Given the description of an element on the screen output the (x, y) to click on. 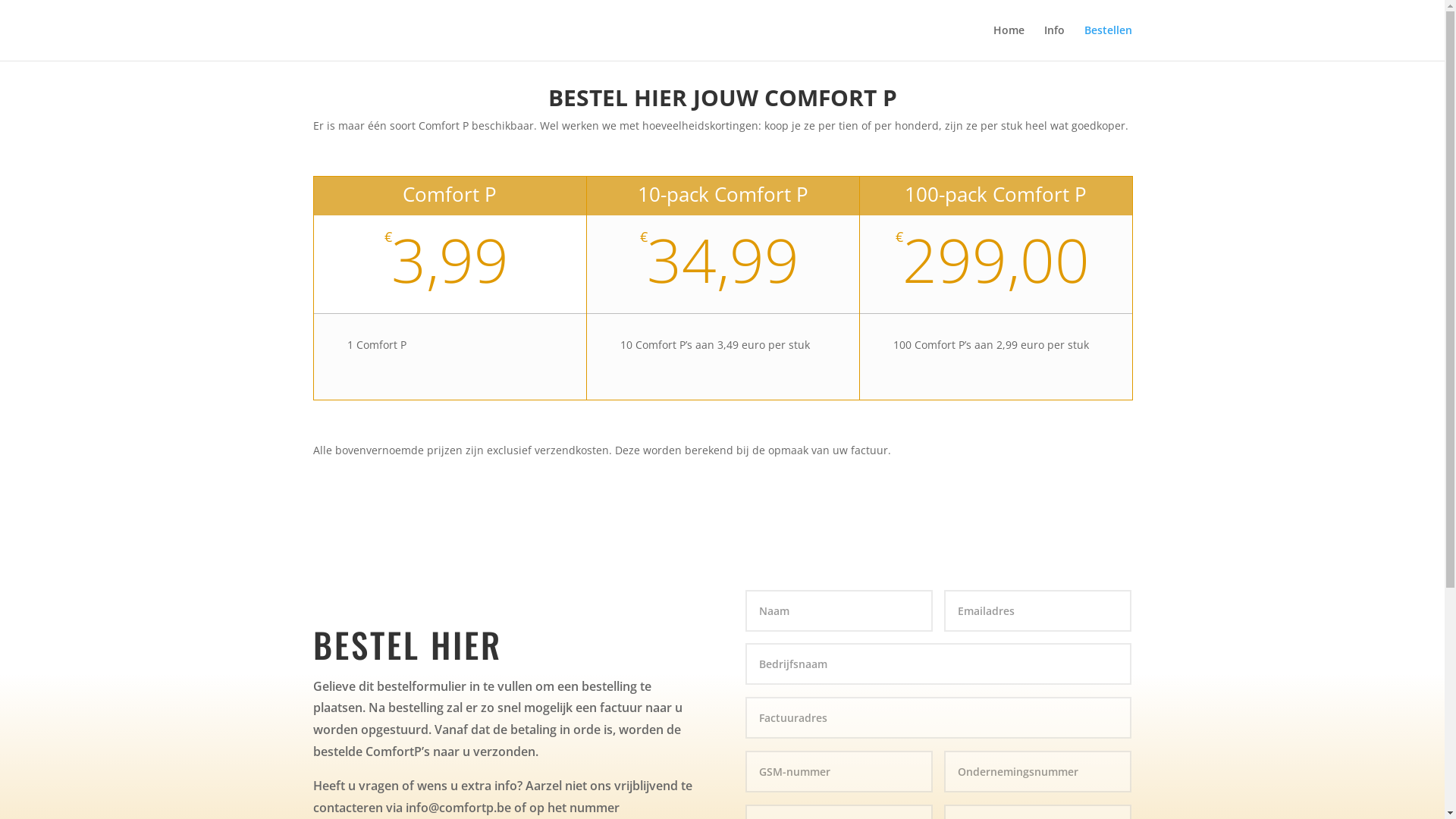
Bestellen Element type: text (1108, 42)
Home Element type: text (1008, 42)
Info Element type: text (1053, 42)
